Given the description of an element on the screen output the (x, y) to click on. 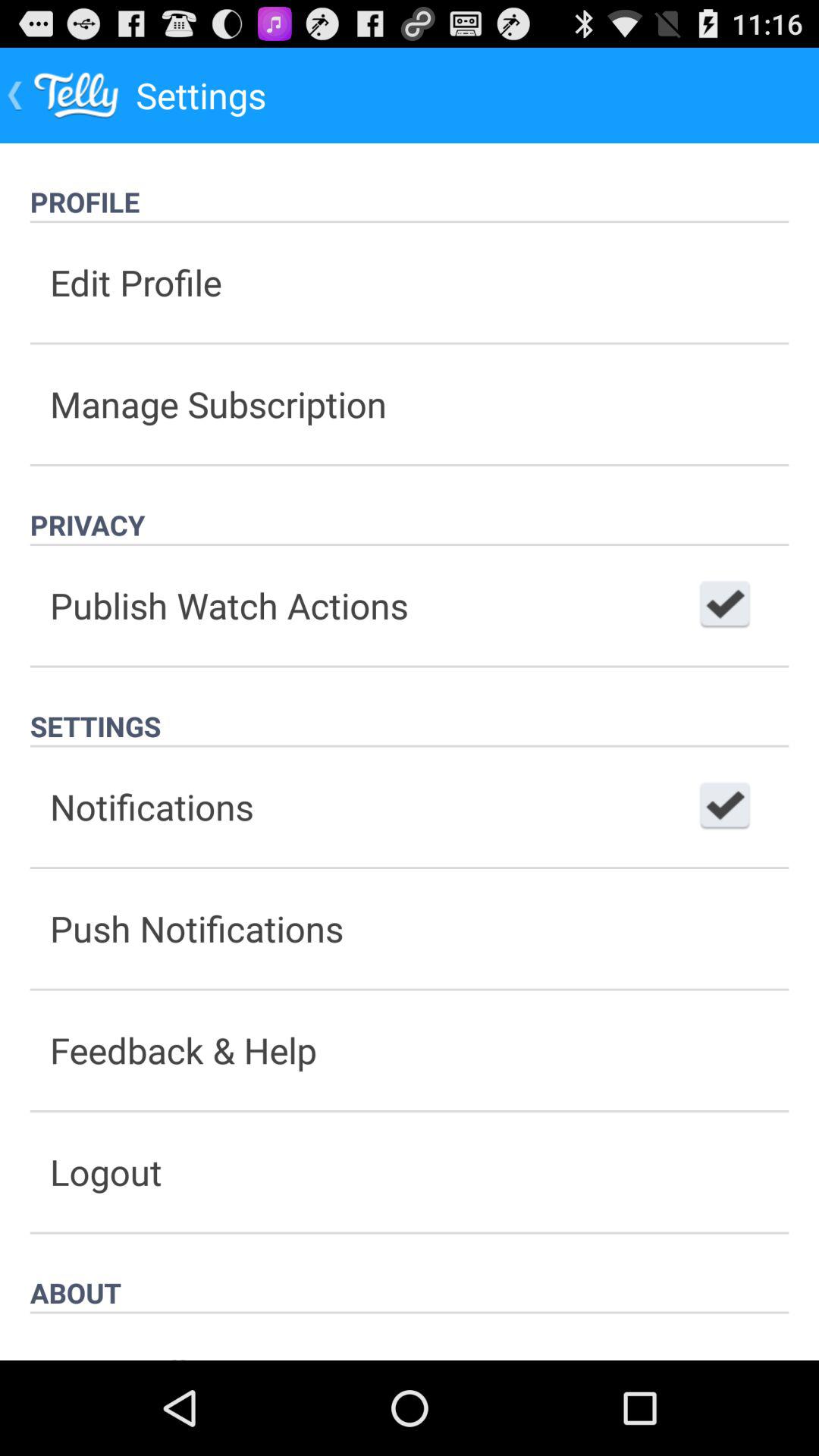
switch off notifications (724, 806)
